Given the description of an element on the screen output the (x, y) to click on. 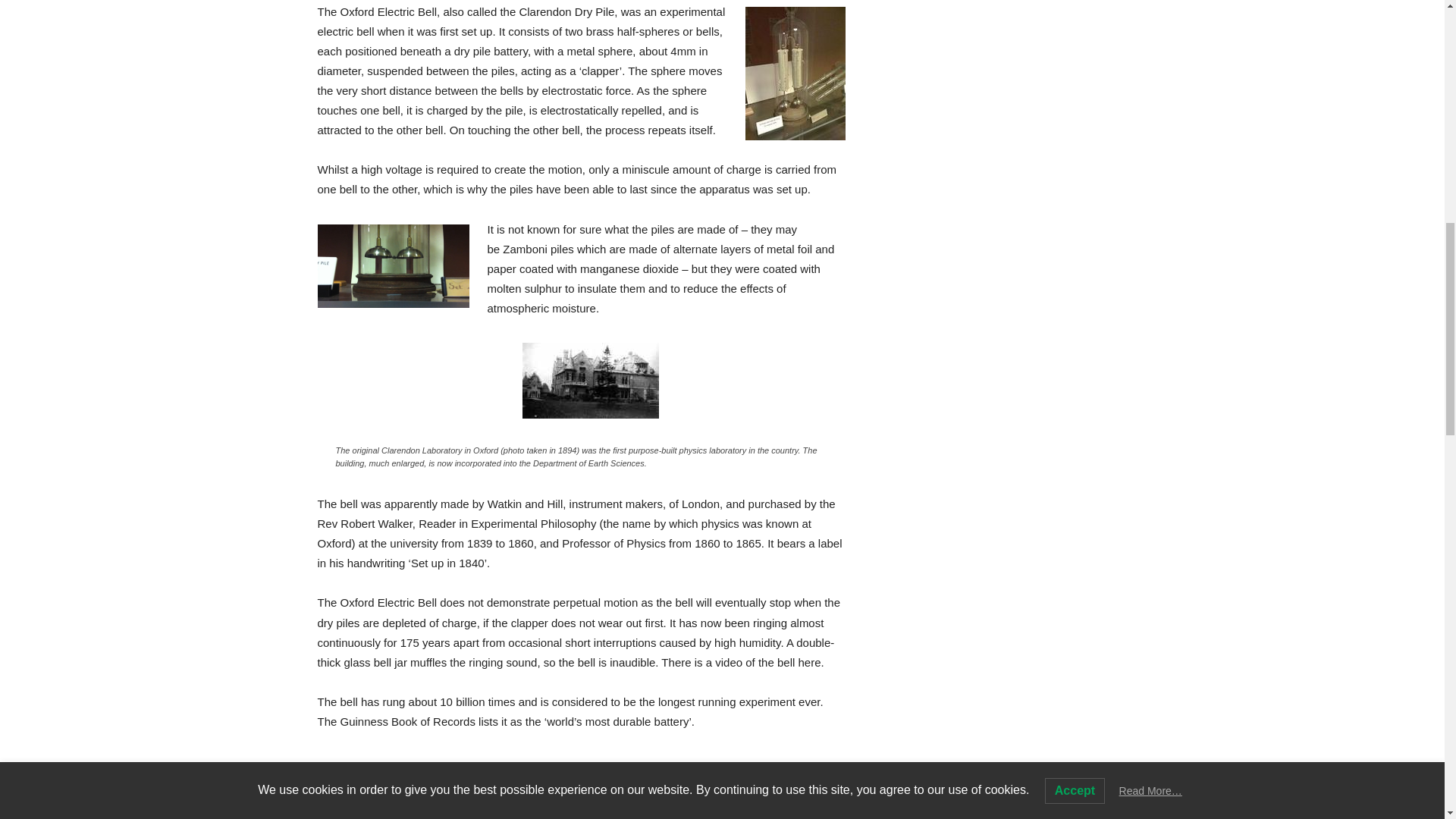
bottomFacebookLike (430, 788)
